Given the description of an element on the screen output the (x, y) to click on. 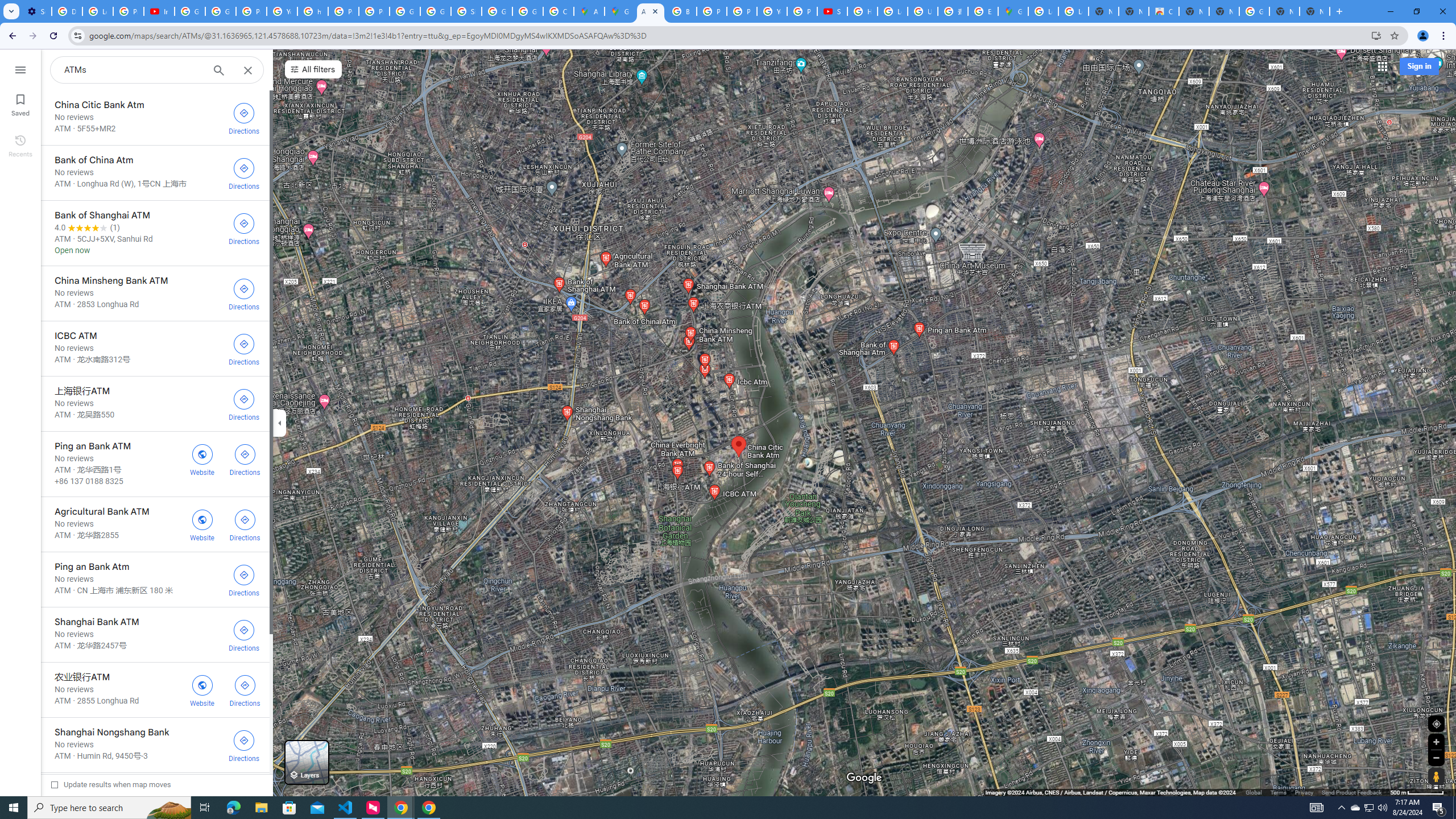
Create your Google Account (558, 11)
Visit Agricultural Bank ATM's website (202, 524)
Recents (20, 145)
Google Account Help (189, 11)
Shanghai Nongshang Bank (154, 744)
Send Product Feedback (1351, 792)
Introduction | Google Privacy Policy - YouTube (158, 11)
